Given the description of an element on the screen output the (x, y) to click on. 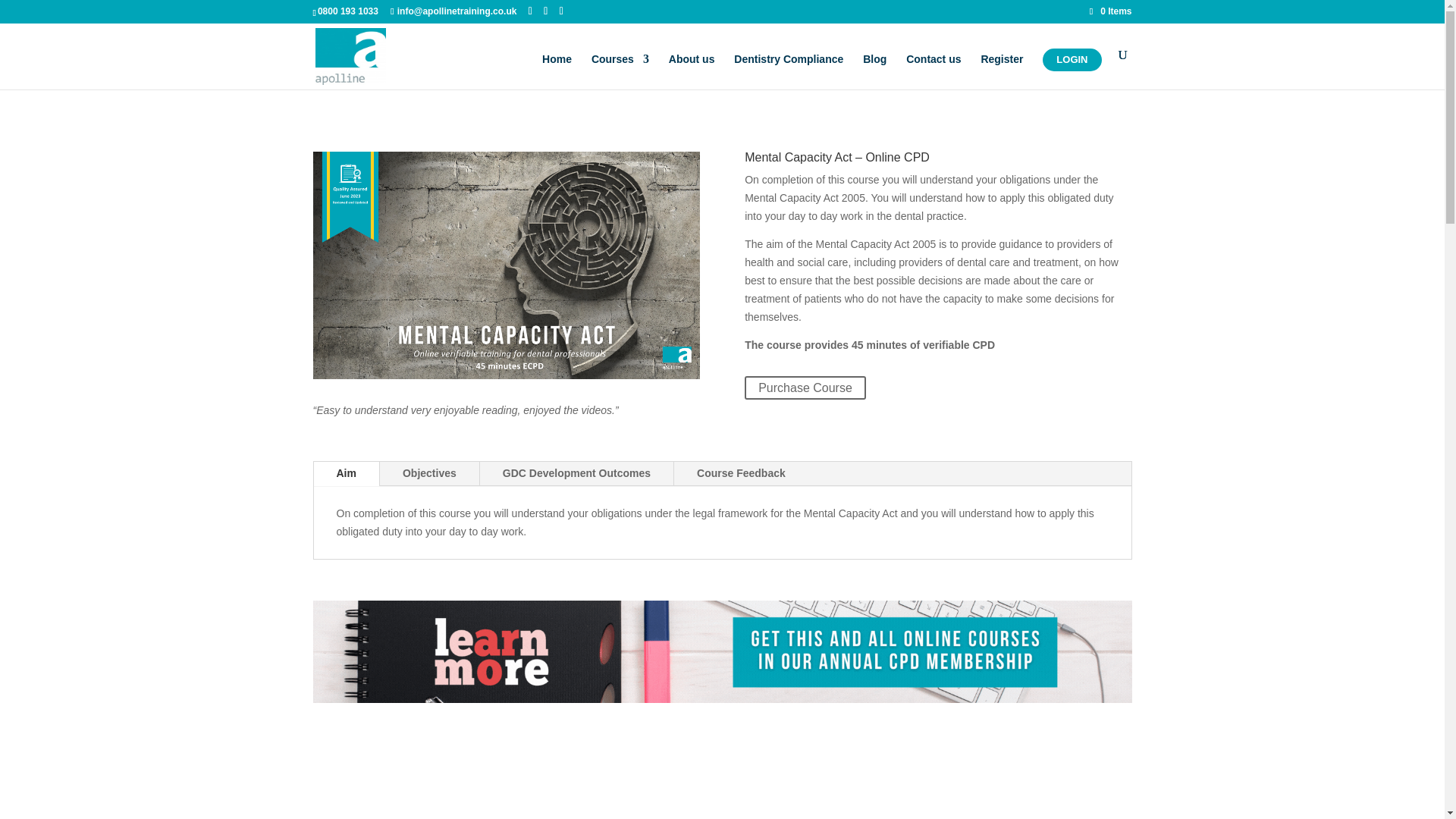
GDC Development Outcomes (576, 473)
Register (1001, 71)
Objectives (429, 473)
Aim (346, 473)
Dentistry Compliance (788, 71)
Purchase Course (805, 387)
Courses (620, 71)
About us (691, 71)
Course Feedback (741, 473)
0 Items (1110, 10)
Apolline-Course-Logo-Mental Capacity Act 2023.06 (505, 265)
Contact us (932, 71)
LOGIN (1071, 59)
